Given the description of an element on the screen output the (x, y) to click on. 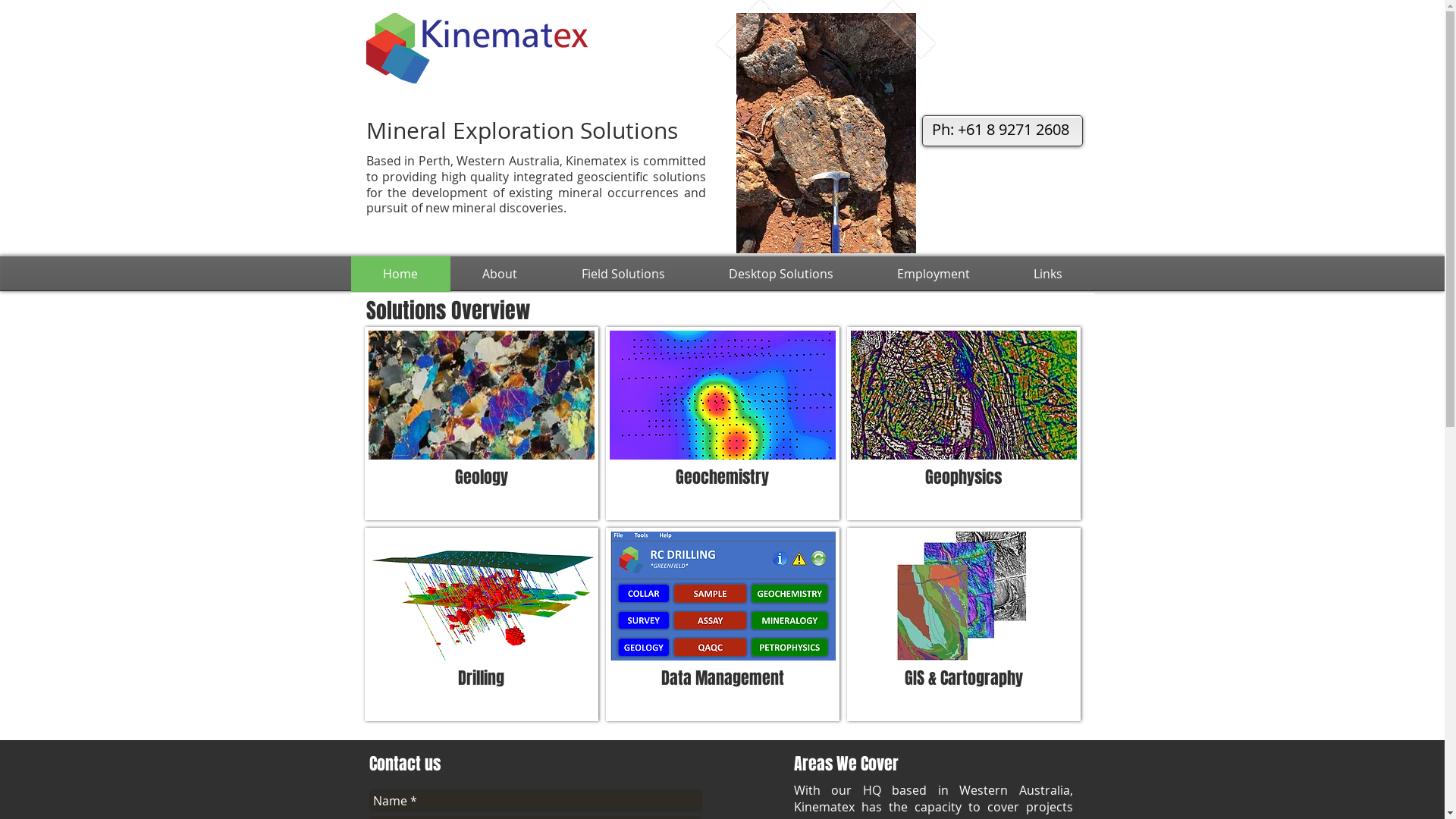
Geochemistry Element type: text (721, 423)
Links Element type: text (1047, 273)
IMG_5351.JPG Element type: hover (825, 132)
Employment Element type: text (932, 273)
Drilling Element type: text (480, 624)
Home Element type: text (399, 273)
Geophysics Element type: text (962, 423)
Field Solutions Element type: text (622, 273)
GIS & Cartography Element type: text (962, 624)
Desktop Solutions Element type: text (780, 273)
Geology Element type: text (480, 423)
Data Management Element type: text (721, 624)
About Element type: text (499, 273)
